Given the description of an element on the screen output the (x, y) to click on. 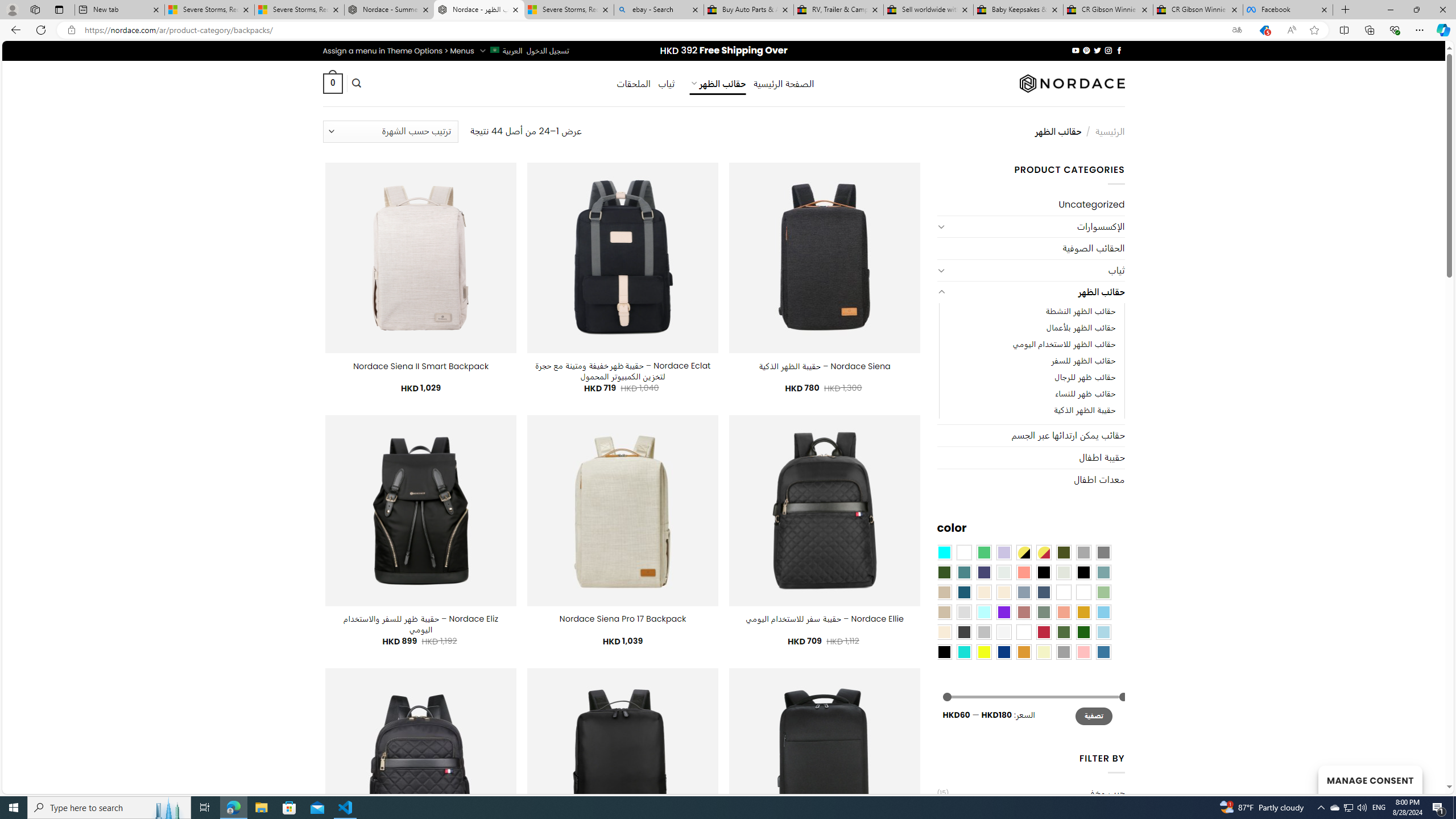
Clear (963, 551)
Nordace Siena Pro 17 Backpack (622, 618)
Assign a menu in Theme Options > Menus (397, 50)
Uncategorized (1030, 204)
Caramel (983, 591)
